Given the description of an element on the screen output the (x, y) to click on. 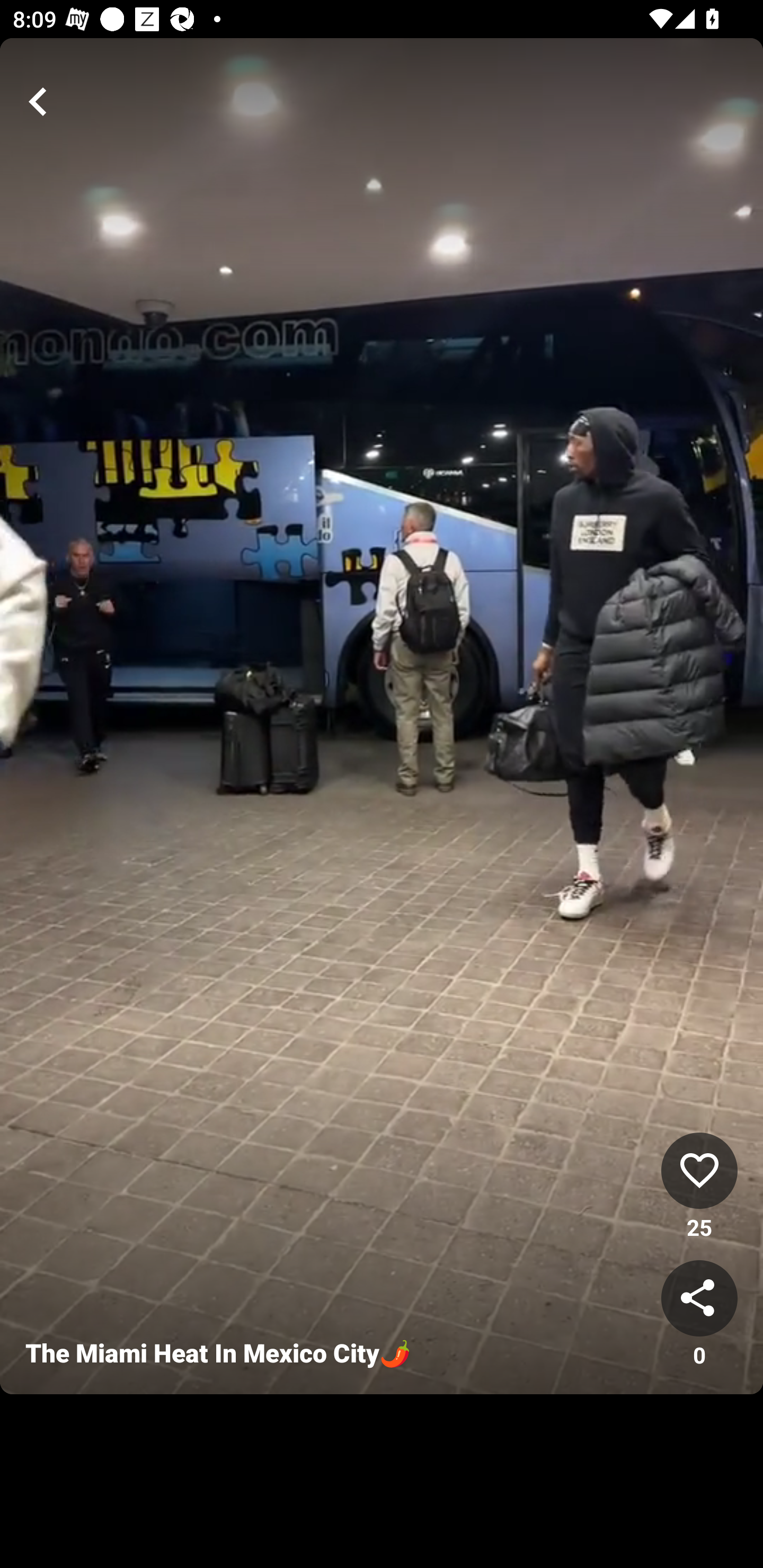
close (38, 101)
like 25 25 Likes (699, 1186)
share 0 0 Shares (699, 1314)
